Given the description of an element on the screen output the (x, y) to click on. 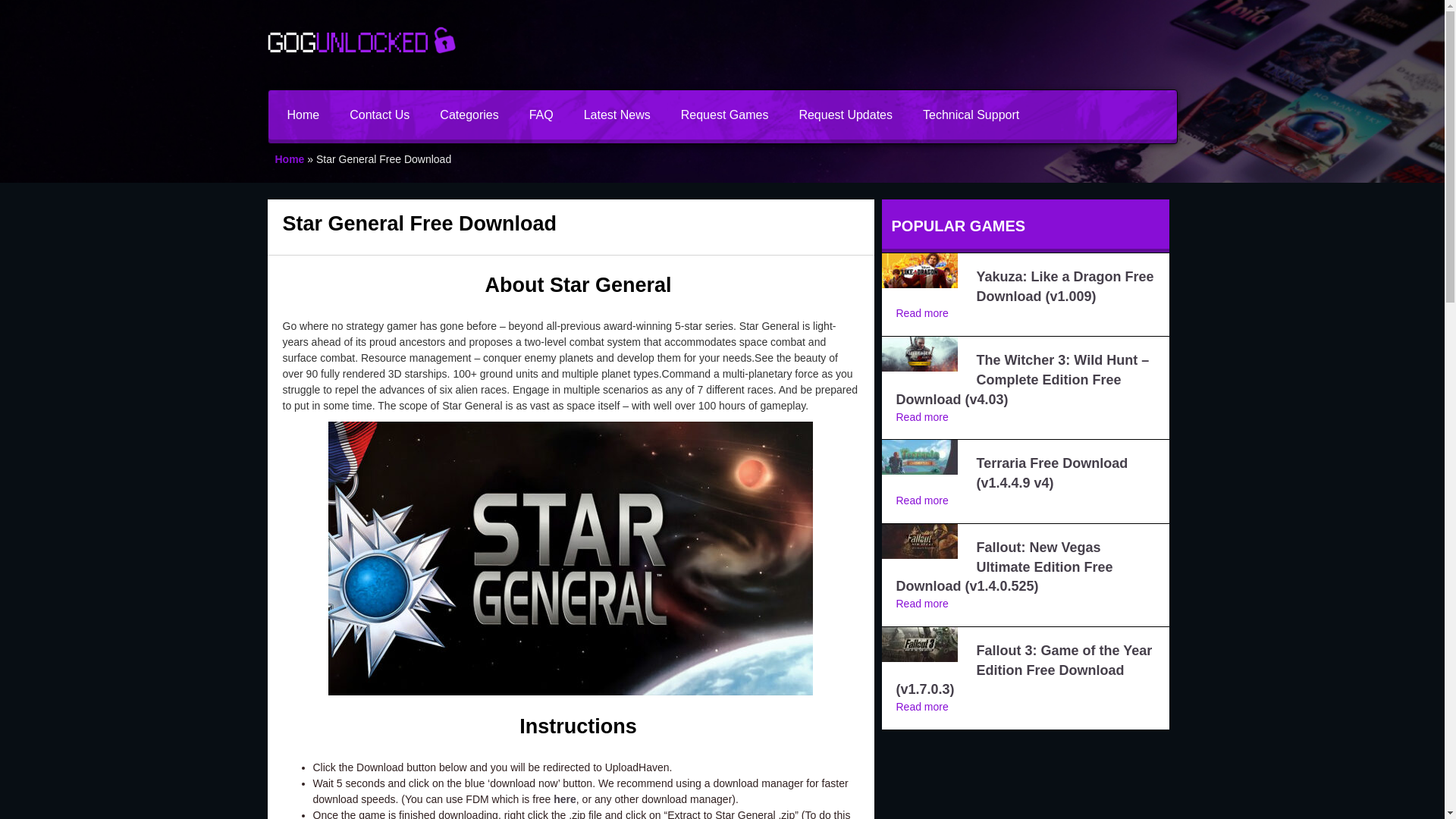
FAQ (541, 114)
Latest News (617, 114)
Read more (922, 313)
Technical Support (970, 114)
Read more (922, 500)
Contact Us (379, 114)
Read more (922, 417)
Request Games (724, 114)
Request Updates (845, 114)
Home (302, 114)
Home (289, 159)
here (564, 799)
Read more (922, 603)
Categories (469, 114)
Read more (922, 706)
